Given the description of an element on the screen output the (x, y) to click on. 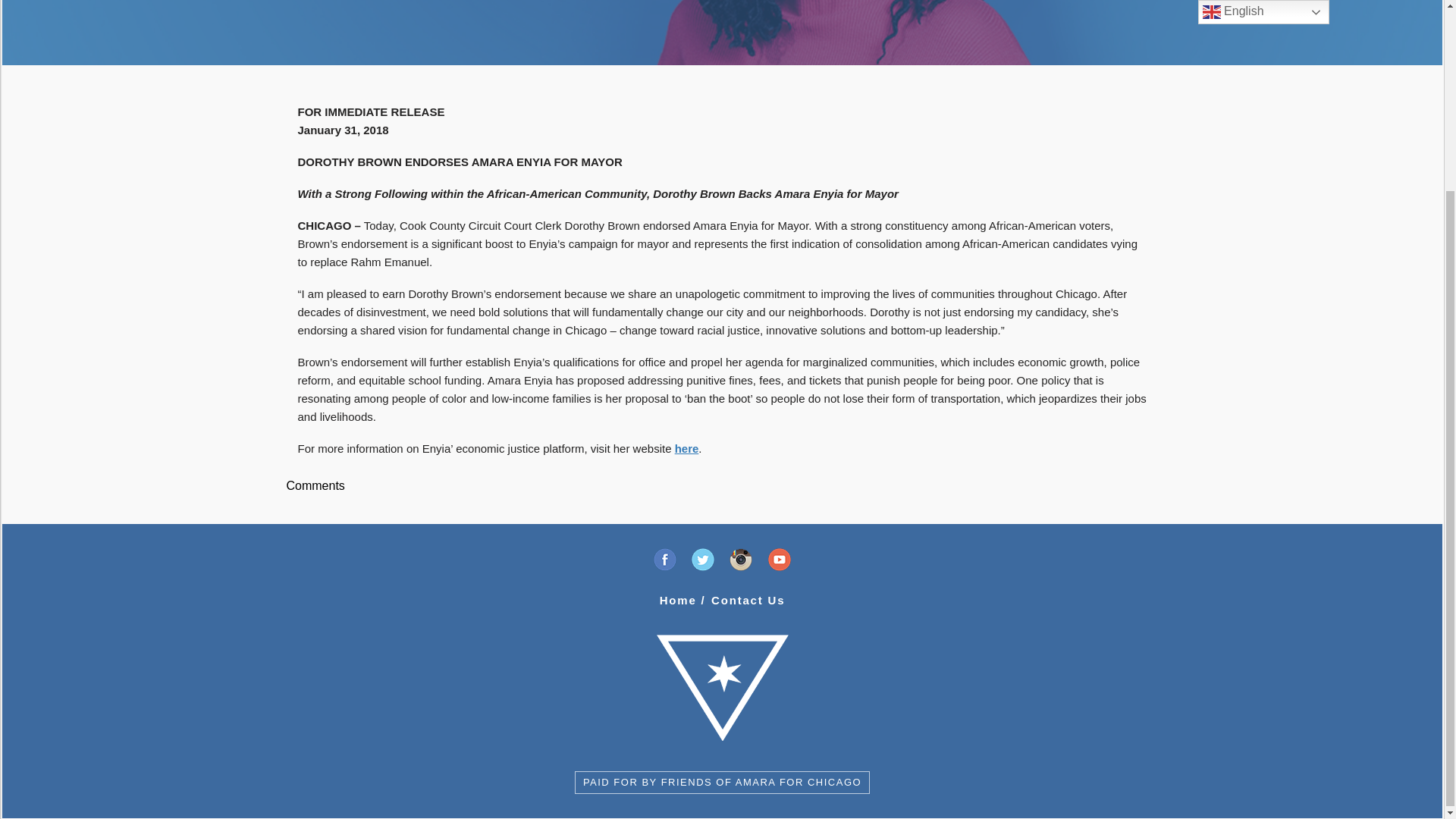
Contact Us (747, 599)
Home (678, 599)
here (686, 448)
